Given the description of an element on the screen output the (x, y) to click on. 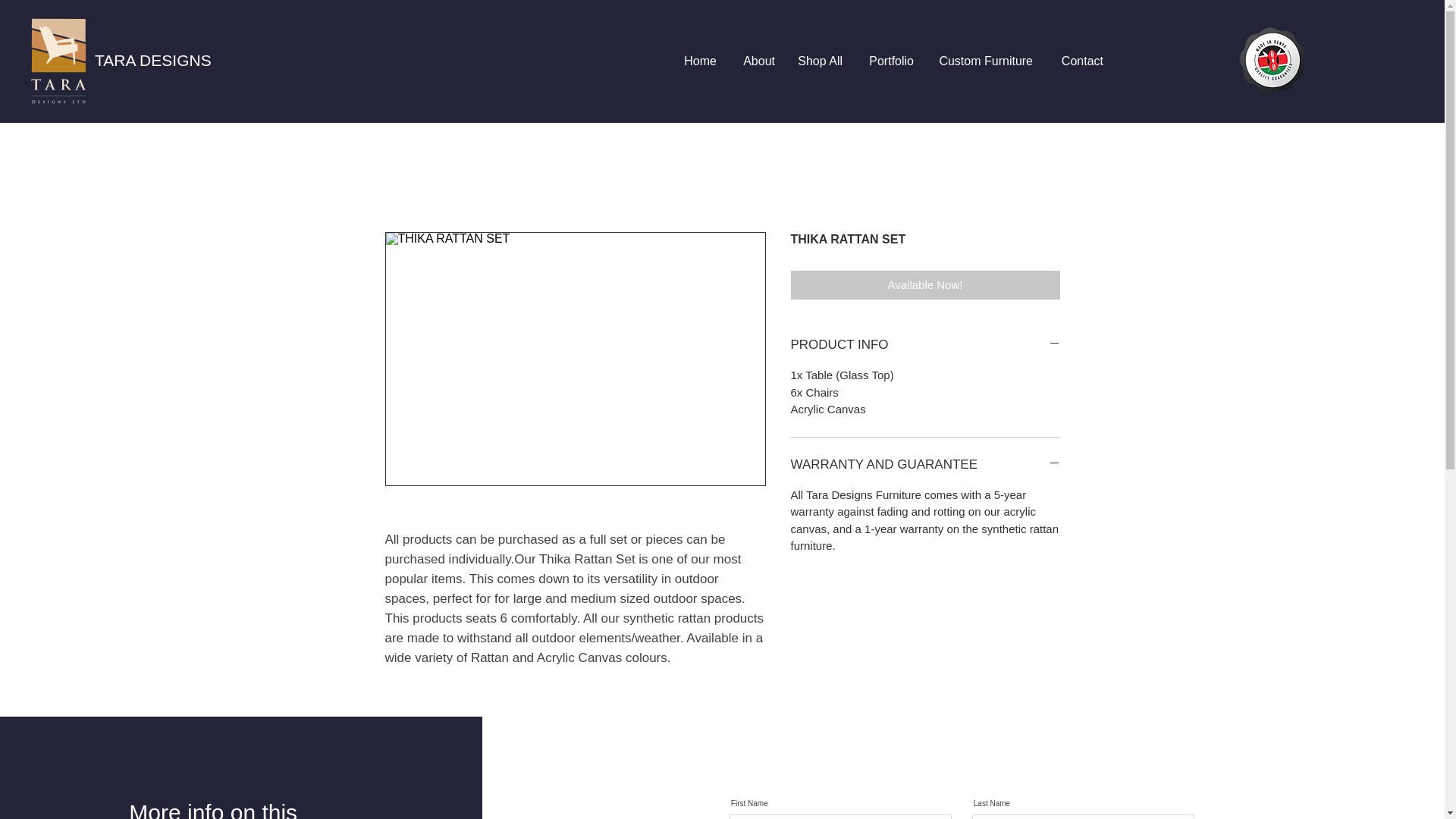
Shop All (819, 60)
WARRANTY AND GUARANTEE (924, 464)
Home (700, 60)
TARA DESIGNS (152, 59)
Portfolio (888, 60)
Available Now! (924, 285)
About (757, 60)
Custom Furniture (983, 60)
PRODUCT INFO (924, 344)
Contact (1079, 60)
